Given the description of an element on the screen output the (x, y) to click on. 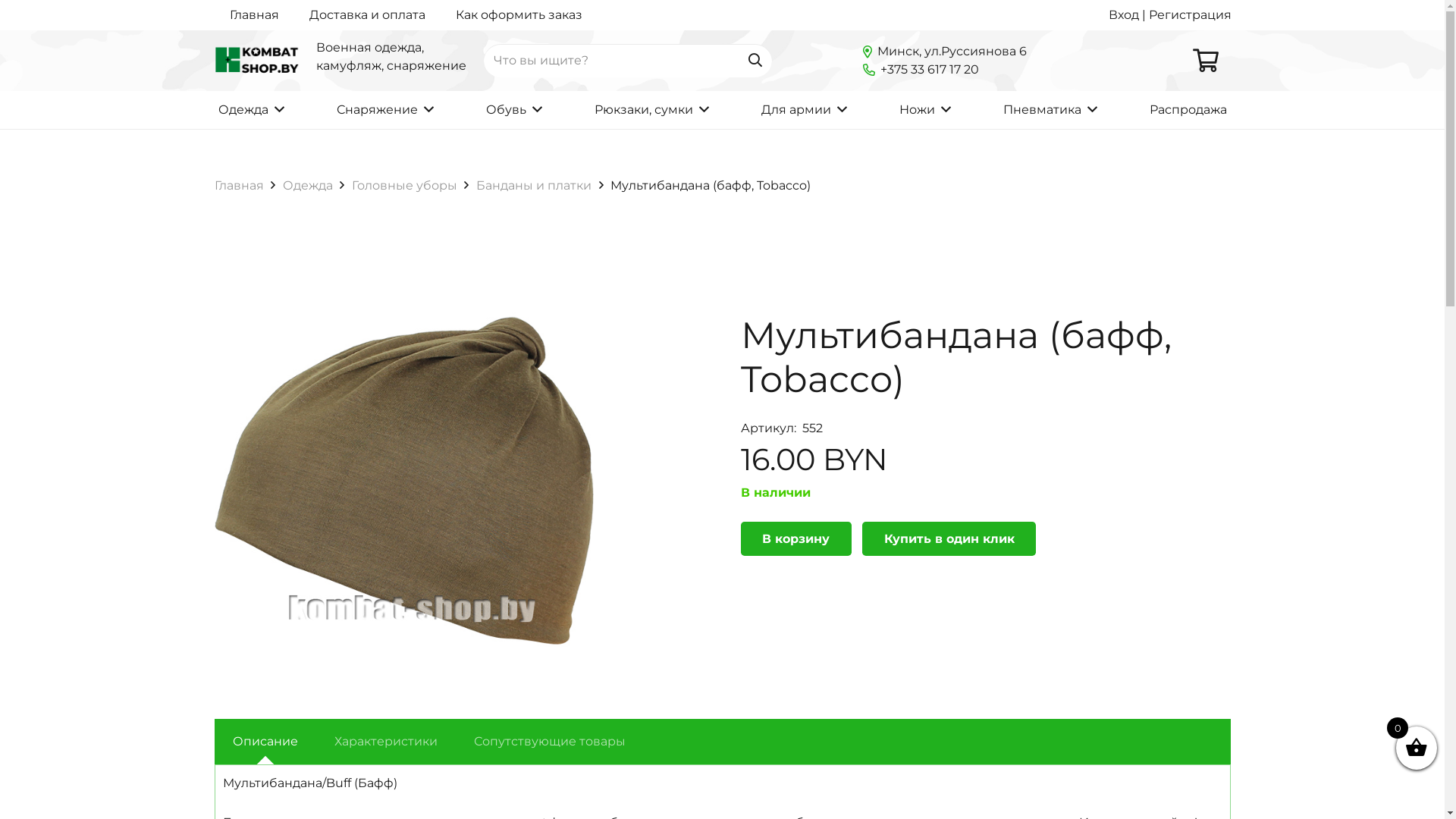
+375 33 617 17 20 Element type: text (920, 69)
0 Element type: text (1204, 60)
Multib_tabaco Element type: hover (403, 480)
